Given the description of an element on the screen output the (x, y) to click on. 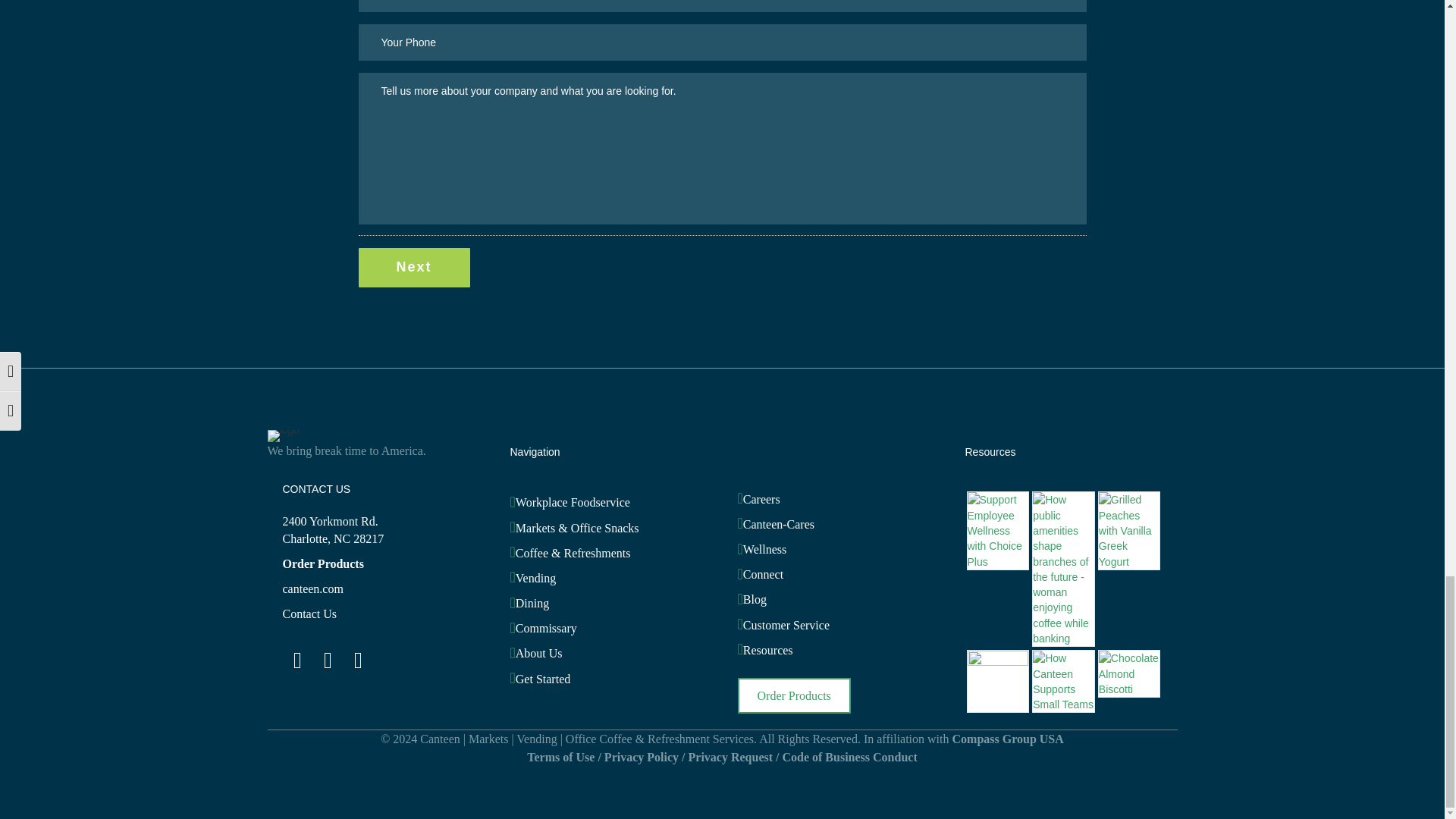
logo (282, 435)
Support Employee Wellness with Choice Plus (998, 530)
Next (413, 267)
LinkedIn (297, 660)
How Public Amenities Shape Branches of the Future (1063, 568)
Instagram (327, 660)
Facebook (357, 660)
Resources (988, 451)
Grilled Peaches with Vanilla Greek Yogurt (1129, 530)
